Given the description of an element on the screen output the (x, y) to click on. 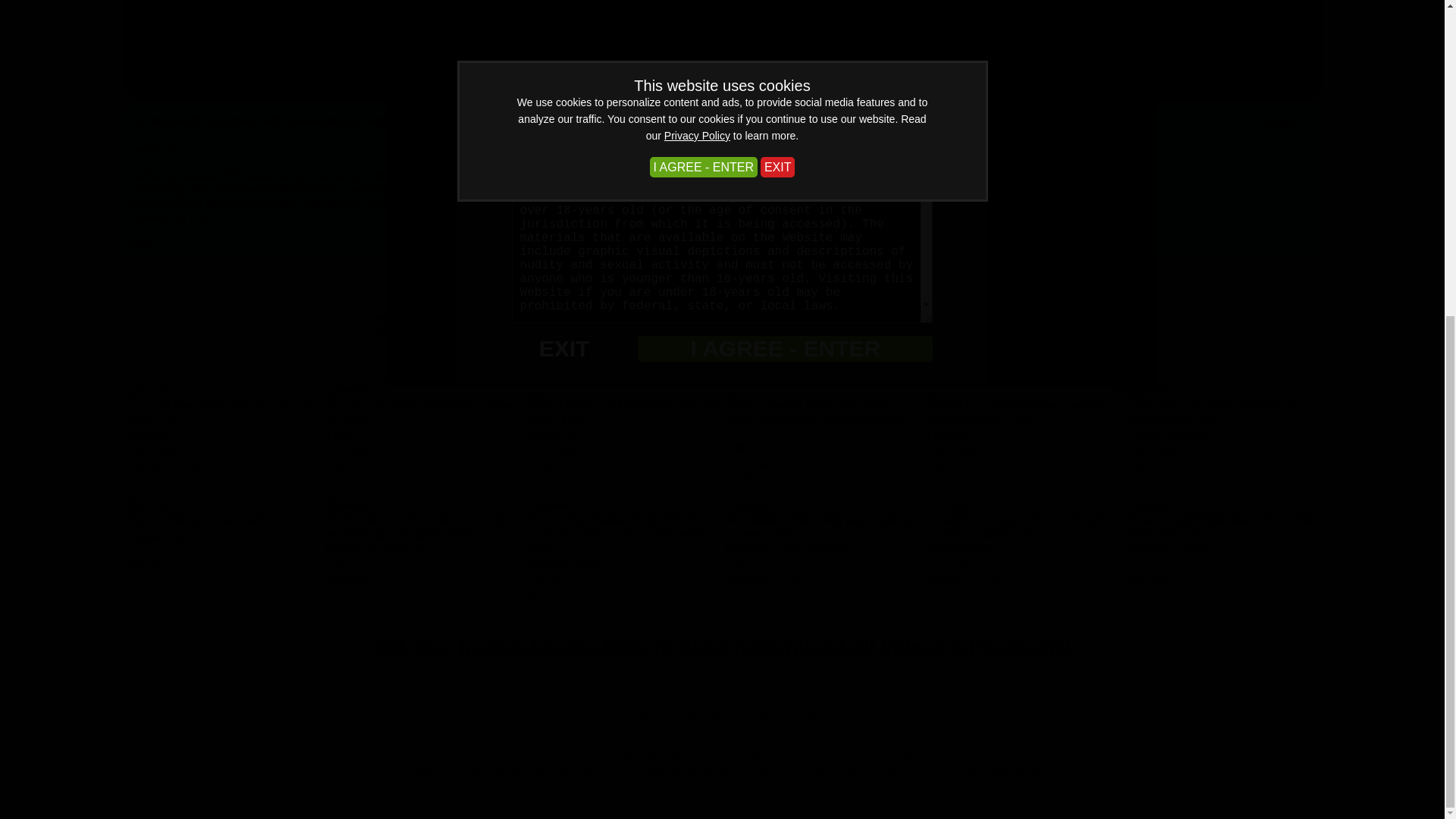
Bra - None (355, 244)
Brand - X-Unknown (430, 244)
Tess (339, 434)
Louise in blue dress with blue glossy tights - VID (218, 412)
Customs Available (950, 21)
10-29 Denier Sheer (280, 244)
Louise (145, 434)
Jenny James (388, 21)
Tess in blue dress with Wolford Neon 40 tights (418, 412)
Liz Rainbow (378, 4)
